Given the description of an element on the screen output the (x, y) to click on. 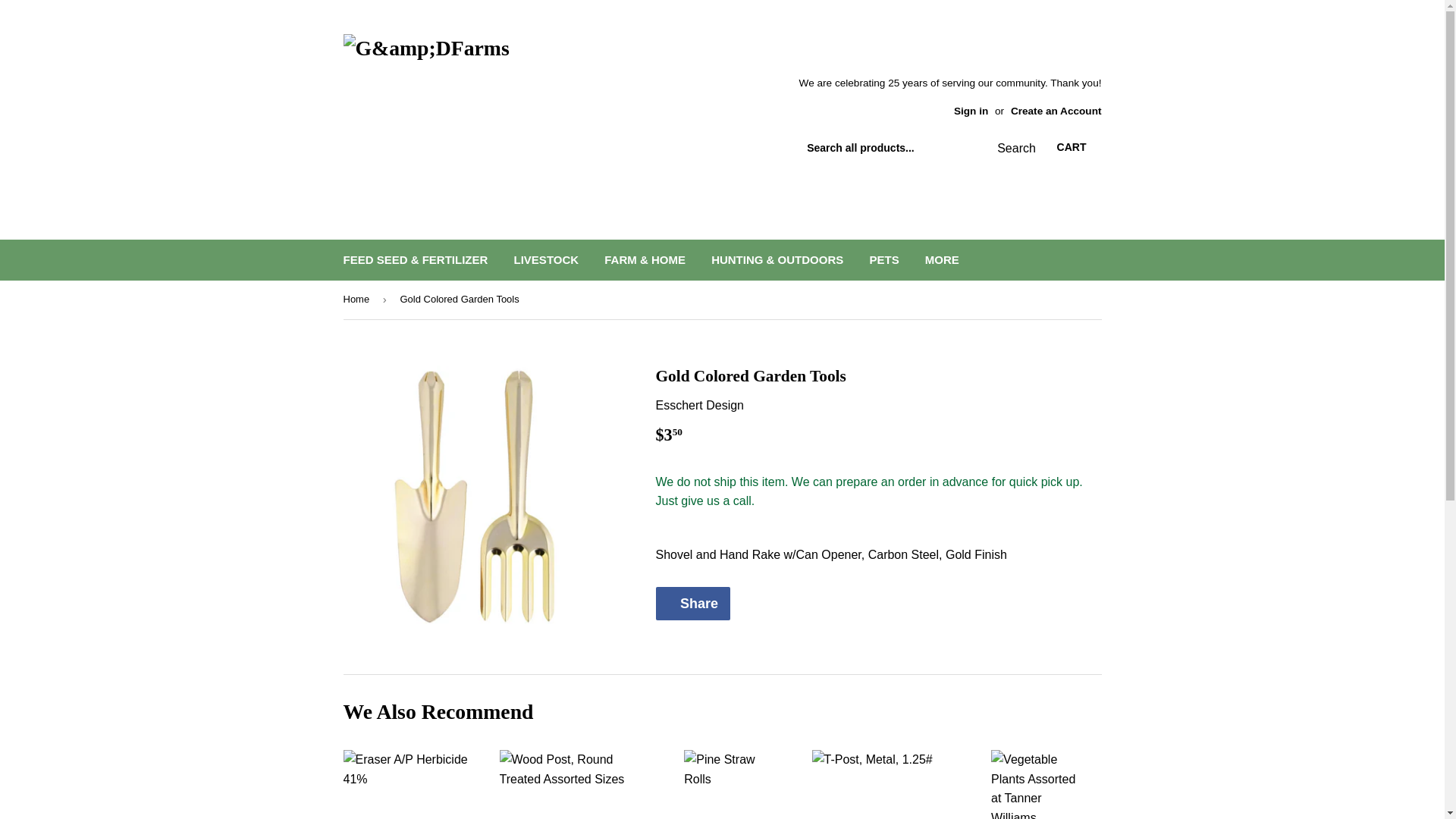
Share on Facebook (692, 603)
Sign in (970, 111)
CART (1072, 147)
Create an Account (1056, 111)
Search (1009, 148)
